Given the description of an element on the screen output the (x, y) to click on. 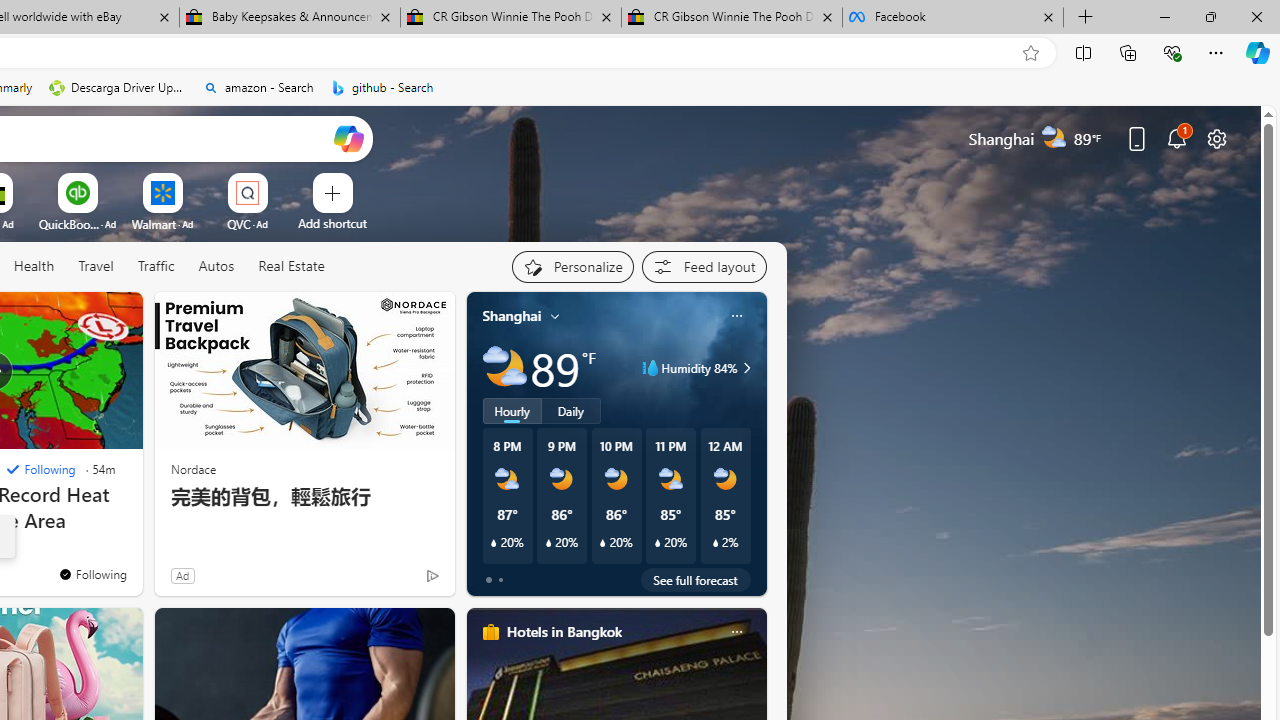
Hourly (511, 411)
Partly cloudy (504, 368)
